Given the description of an element on the screen output the (x, y) to click on. 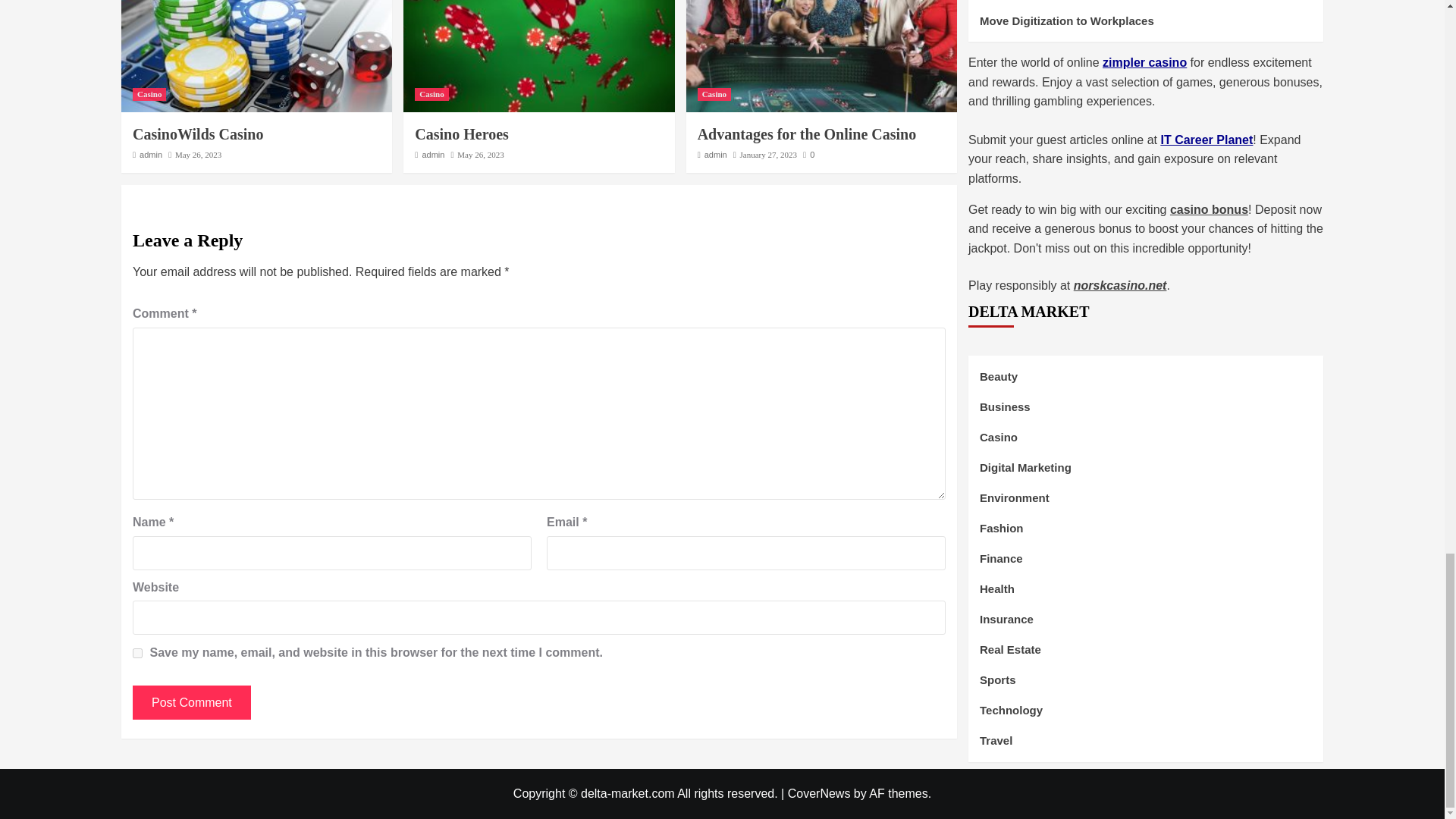
Casino Heroes (461, 134)
CasinoWilds Casino (197, 134)
May 26, 2023 (480, 153)
Post Comment (191, 702)
admin (150, 153)
0 (808, 153)
Casino (431, 93)
May 26, 2023 (197, 153)
Casino (148, 93)
January 27, 2023 (767, 153)
admin (433, 153)
admin (715, 153)
Casino (713, 93)
Advantages for the Online Casino (807, 134)
yes (137, 653)
